Given the description of an element on the screen output the (x, y) to click on. 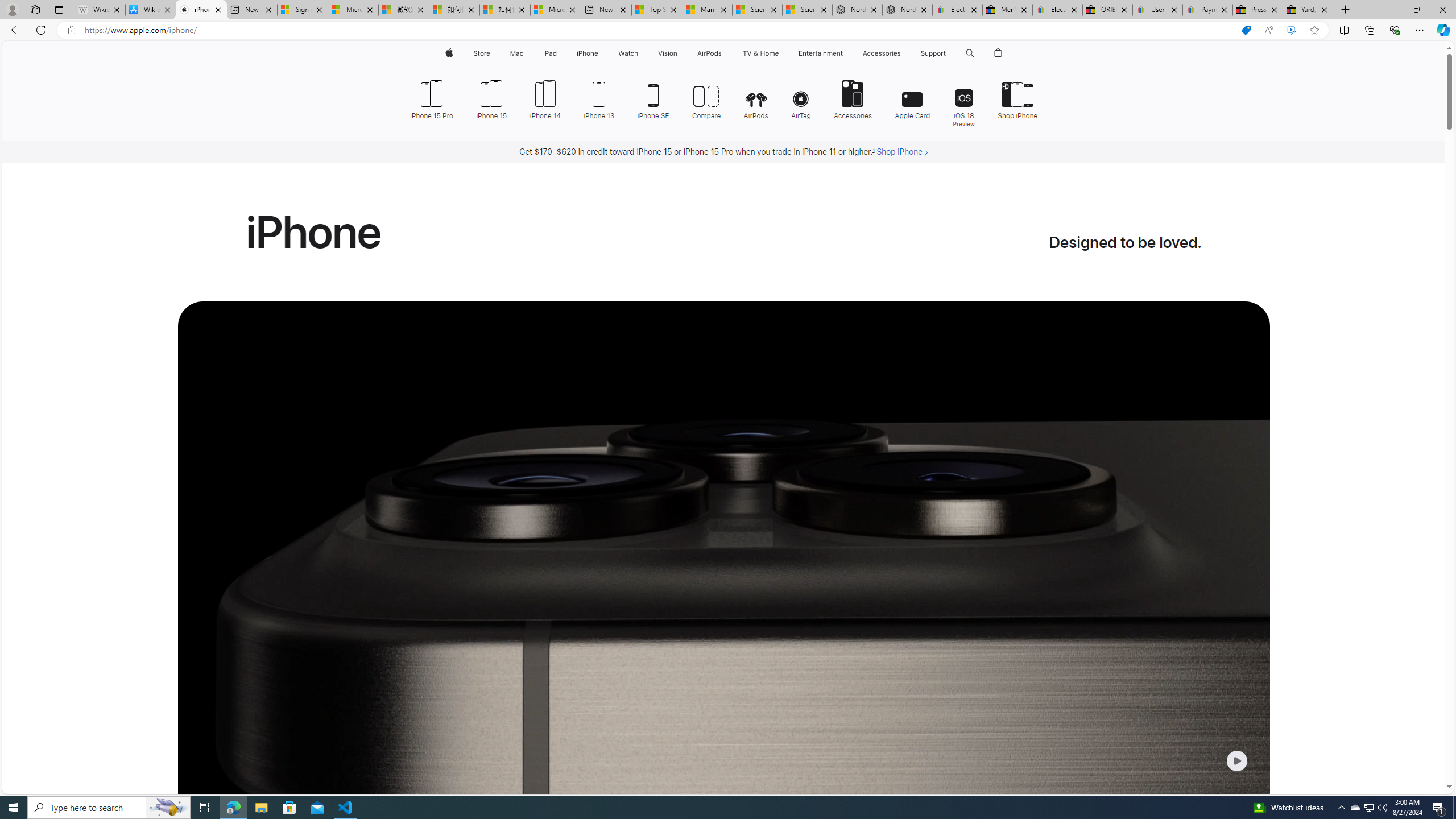
Apple Card (912, 98)
AirPods menu (723, 53)
TV and Home menu (780, 53)
Class: globalnav-item globalnav-search shift-0-1 (969, 53)
iOS 18Preview (962, 101)
Apple (448, 53)
Footnote 1 (873, 151)
AirPods (756, 98)
Nordace - Summer Adventures 2024 (907, 9)
